Given the description of an element on the screen output the (x, y) to click on. 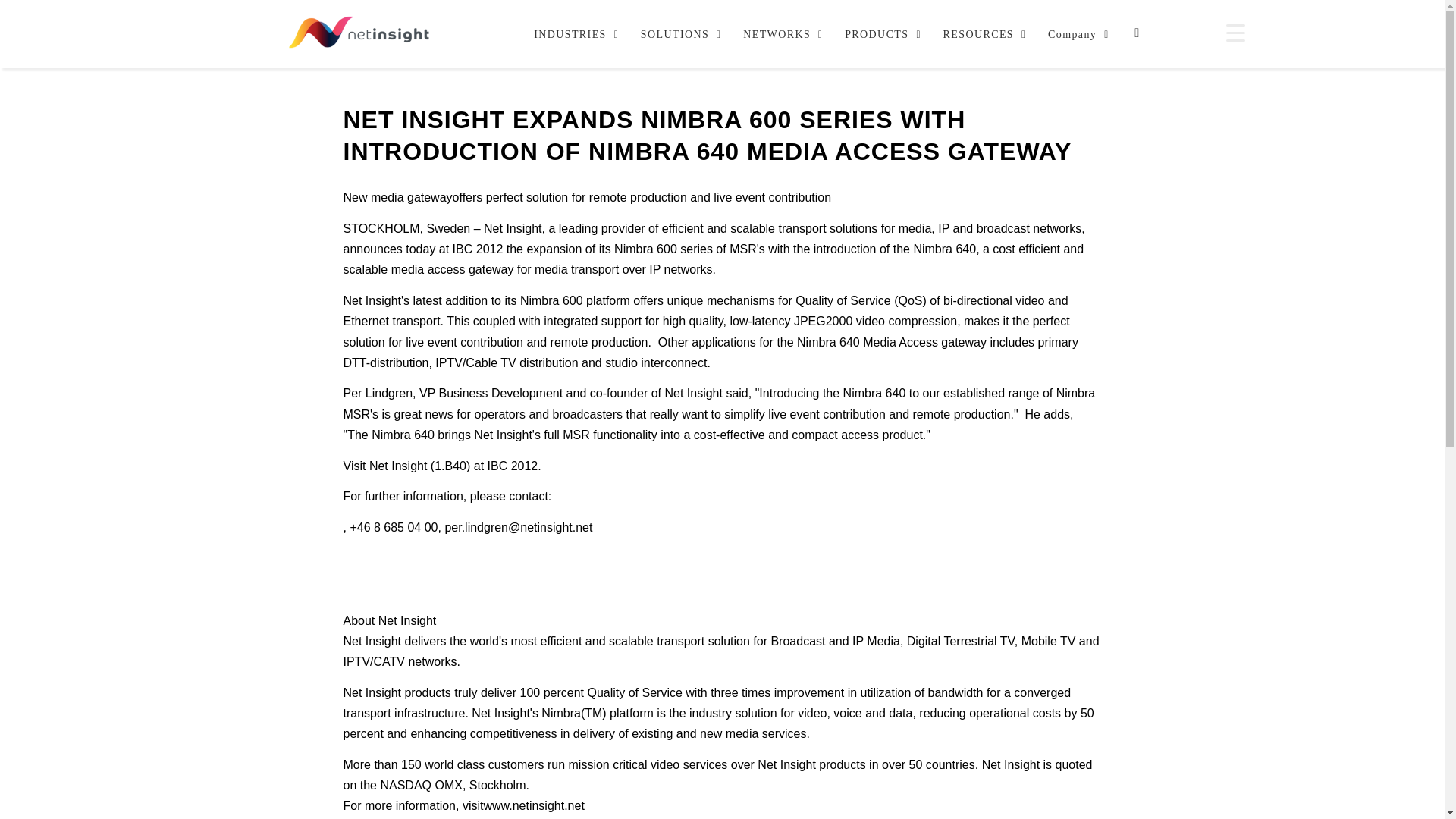
NETWORKS (778, 33)
INDUSTRIES (837, 33)
SOLUTIONS (572, 33)
netinsight-black (677, 33)
netinsight-black (358, 33)
